Given the description of an element on the screen output the (x, y) to click on. 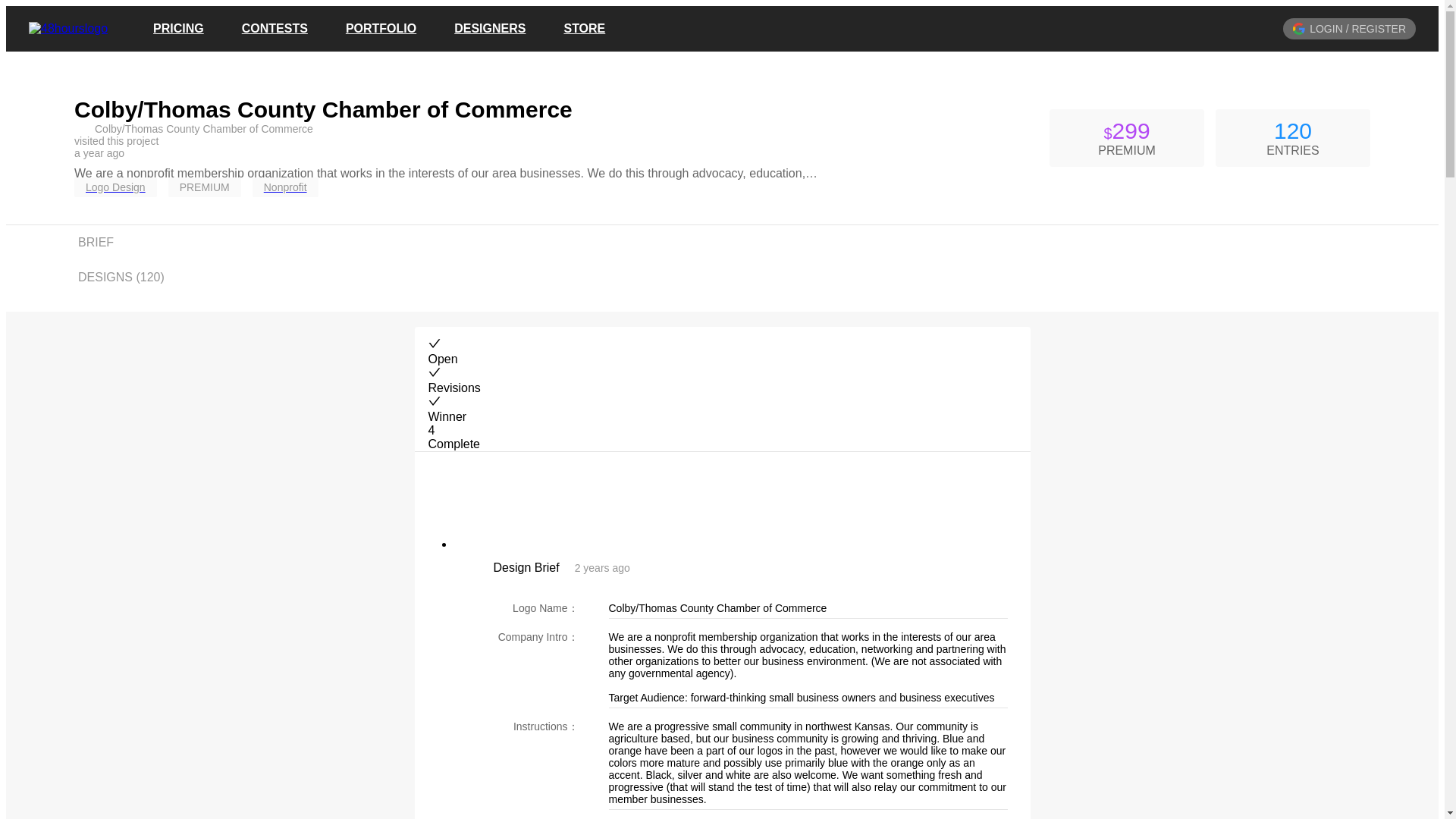
CONTESTS (274, 29)
Nonprofit (290, 186)
PRICING (177, 29)
Logo Design (121, 186)
DESIGNERS (489, 29)
PORTFOLIO (381, 29)
STORE (584, 29)
